Given the description of an element on the screen output the (x, y) to click on. 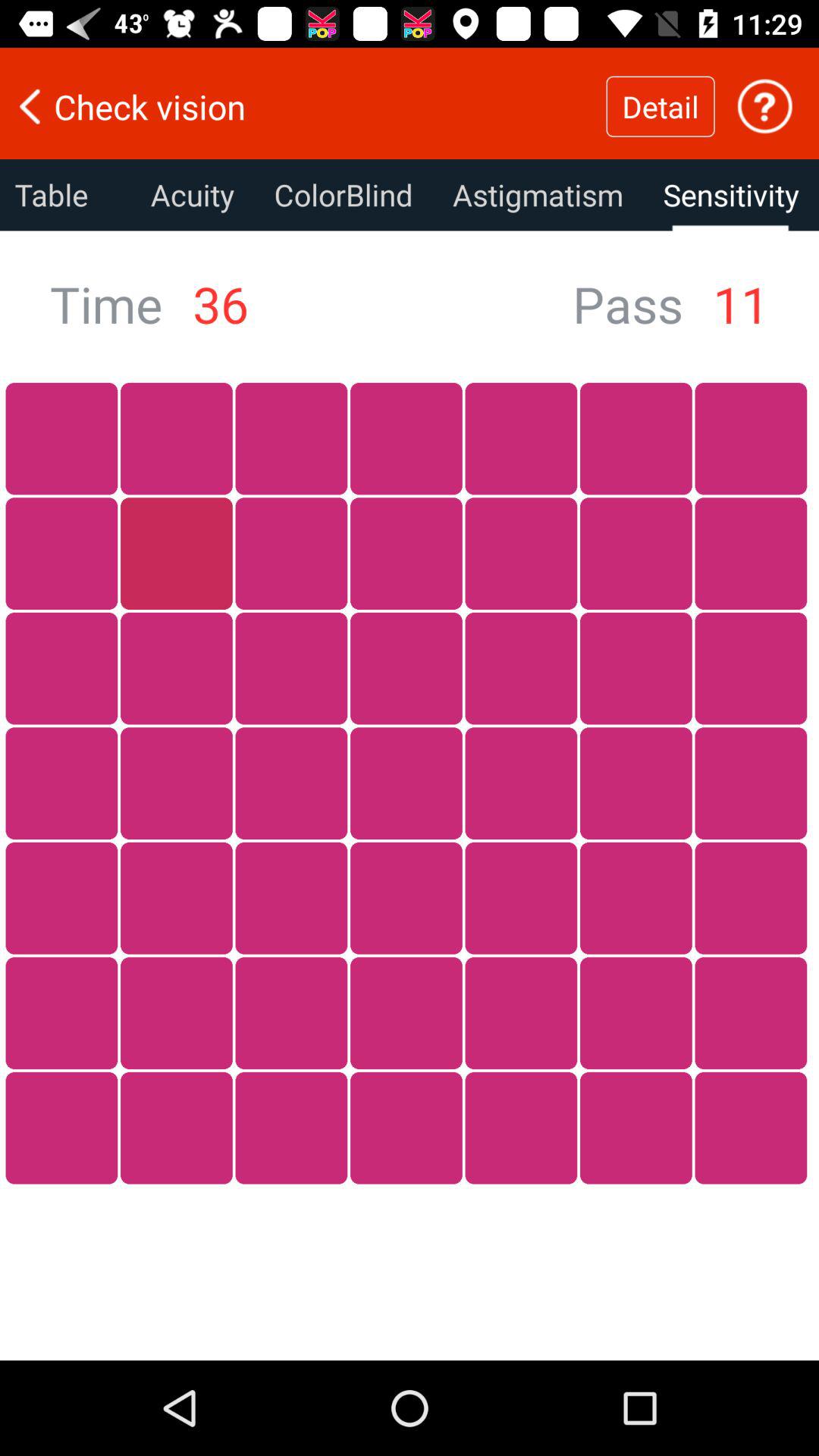
launch the item above astigmatism (660, 106)
